Given the description of an element on the screen output the (x, y) to click on. 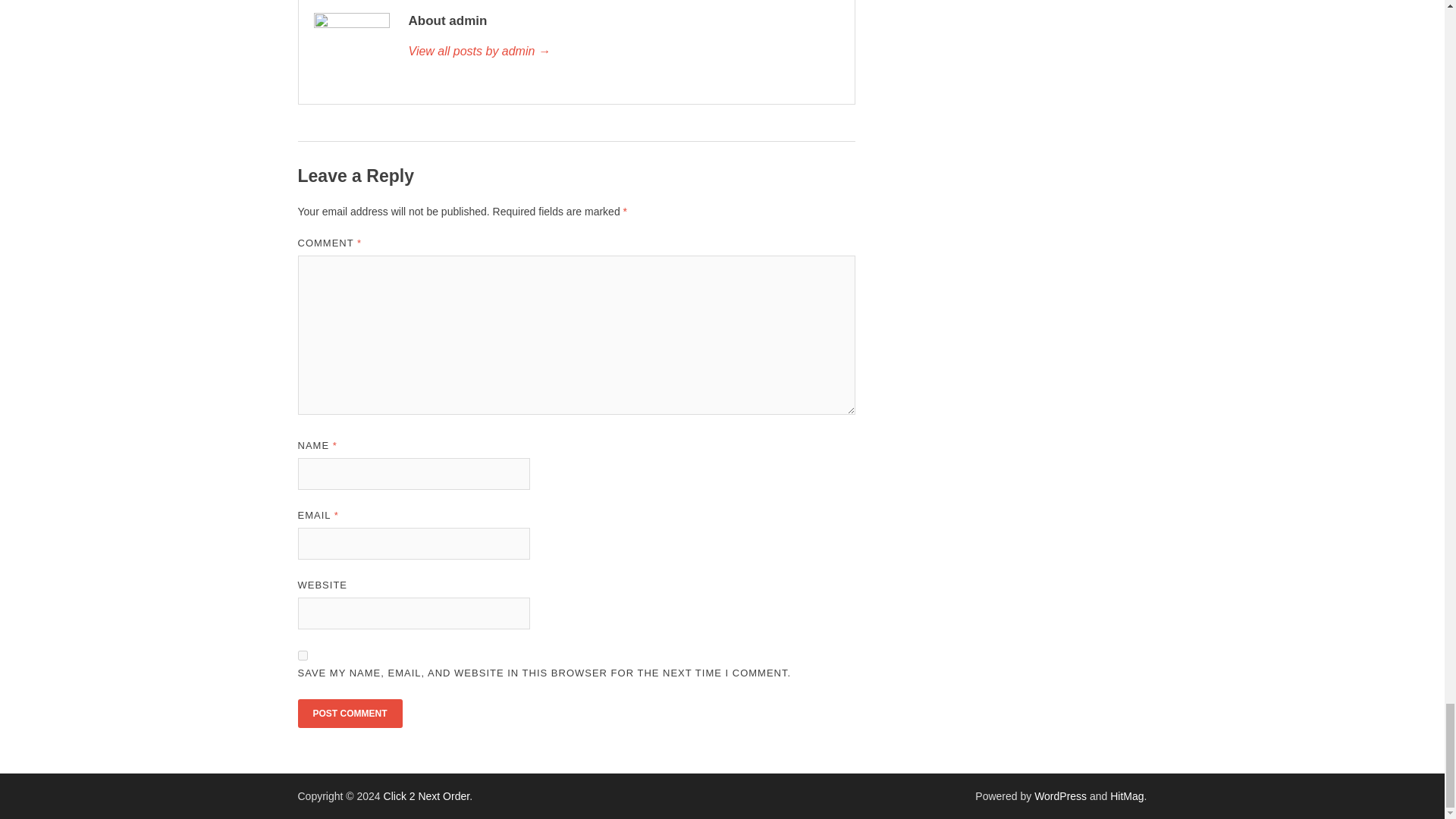
yes (302, 655)
HitMag WordPress Theme (1125, 796)
Click 2 Next Order (427, 796)
Post Comment (349, 713)
admin (622, 51)
Post Comment (349, 713)
WordPress (1059, 796)
